Given the description of an element on the screen output the (x, y) to click on. 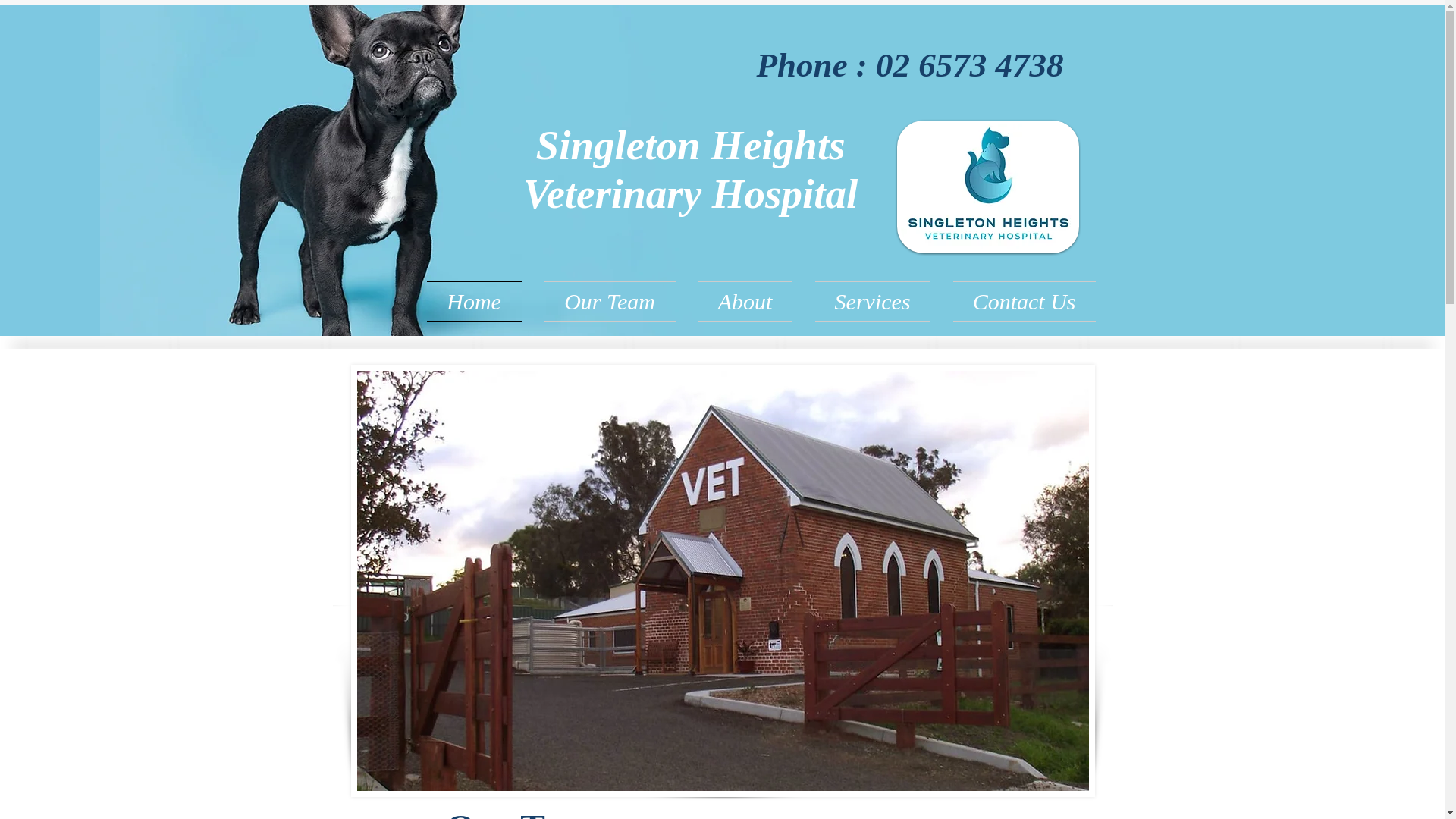
Singleton Heights Veterinary Hospital Element type: text (690, 169)
Home Element type: text (479, 301)
About Element type: text (745, 301)
Our Team Element type: text (610, 301)
Services Element type: text (872, 301)
Phone : 02 6573 4738 Element type: text (909, 65)
Contact Us Element type: text (1018, 301)
